Given the description of an element on the screen output the (x, y) to click on. 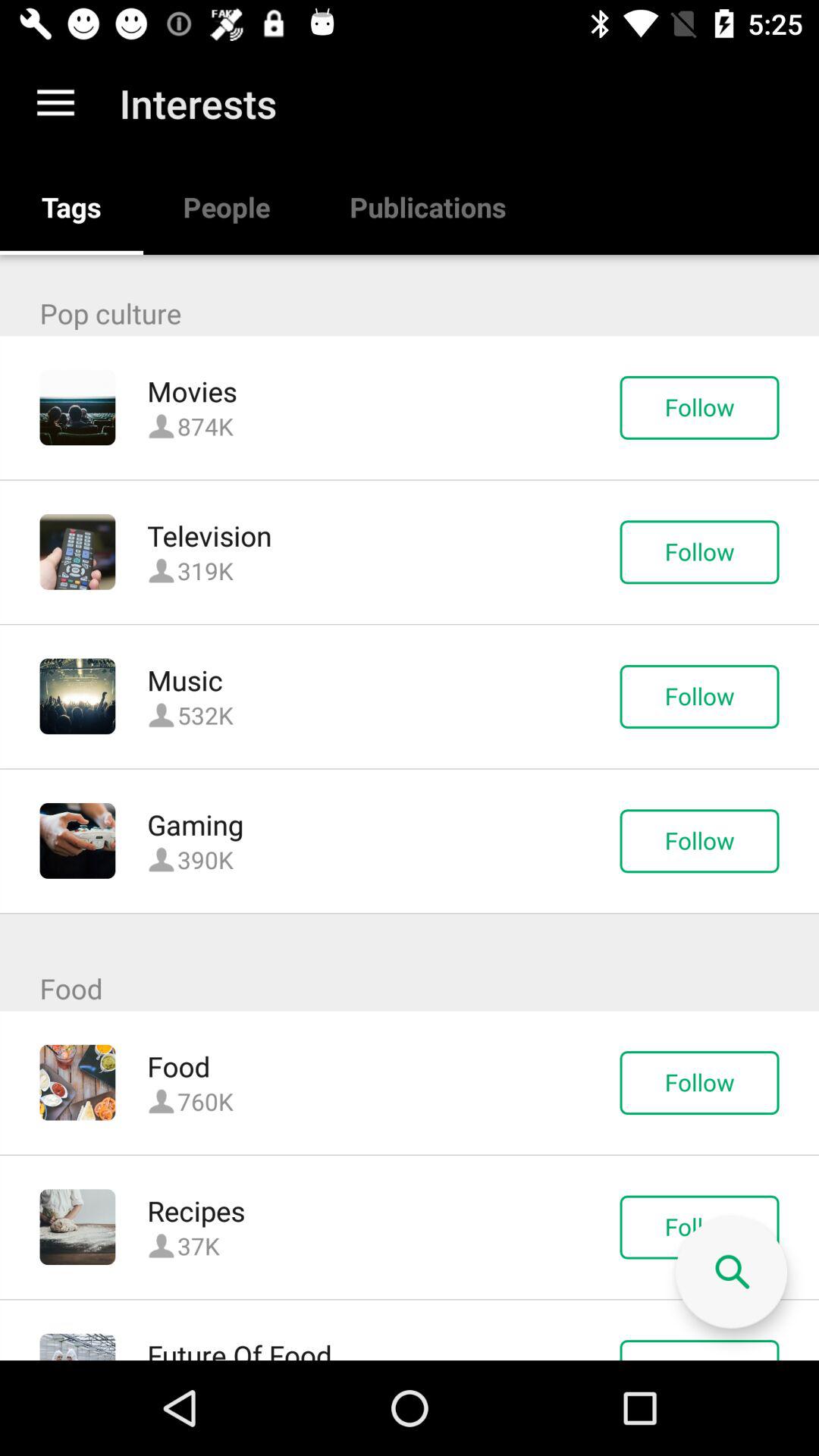
turn off the app next to the interests app (55, 103)
